Given the description of an element on the screen output the (x, y) to click on. 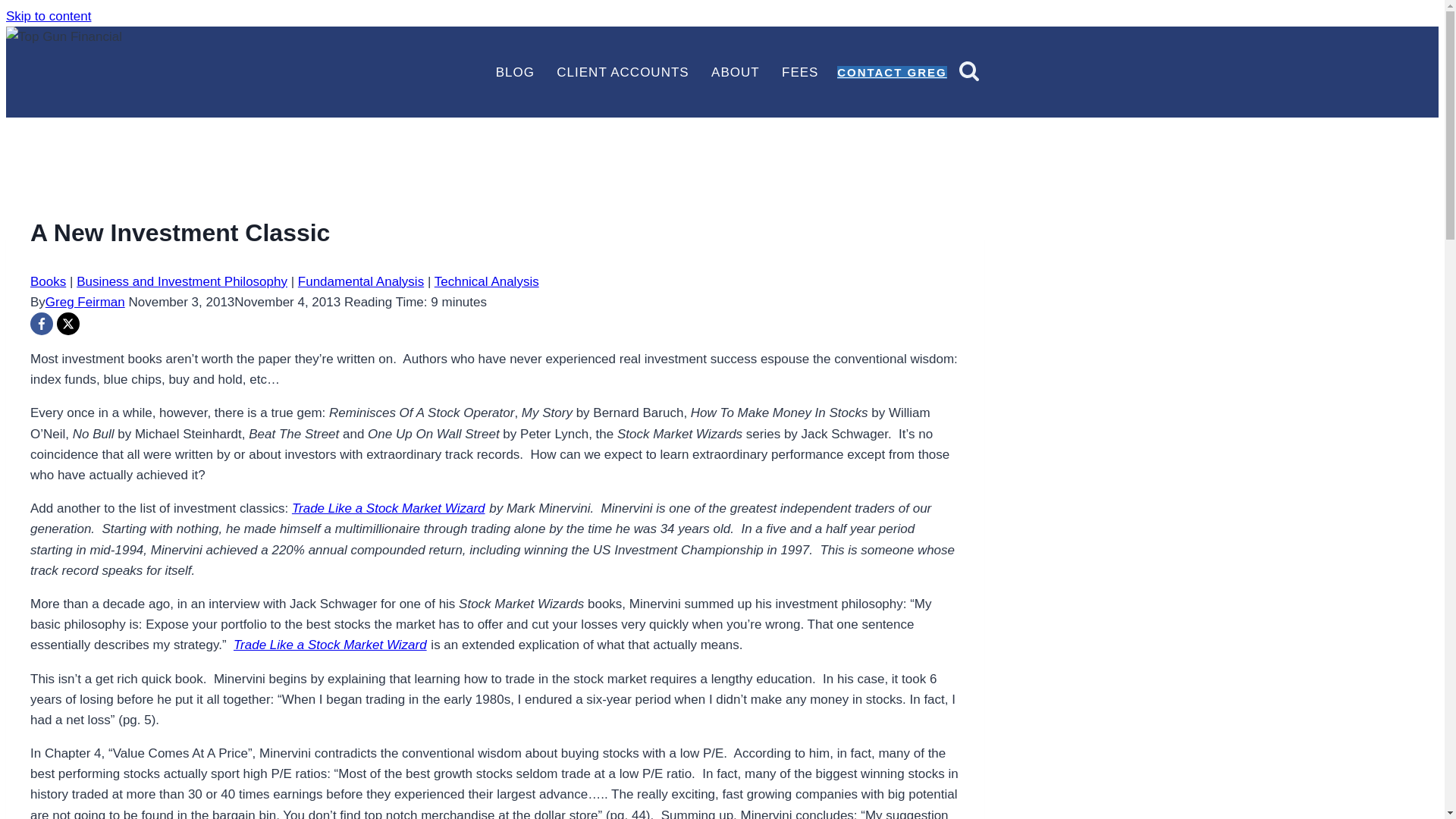
Skip to content (47, 16)
Search (968, 70)
FEES (810, 72)
CLIENT ACCOUNTS (634, 72)
Trade Like a Stock Market Wizard (388, 508)
Books (47, 281)
Greg Feirman (85, 301)
Skip to content (47, 16)
ABOUT (746, 72)
Trade Like a Stock Market Wizard (329, 644)
Fundamental Analysis (360, 281)
CONTACT GREG (892, 72)
Technical Analysis (485, 281)
BLOG (525, 72)
Business and Investment Philosophy (181, 281)
